Given the description of an element on the screen output the (x, y) to click on. 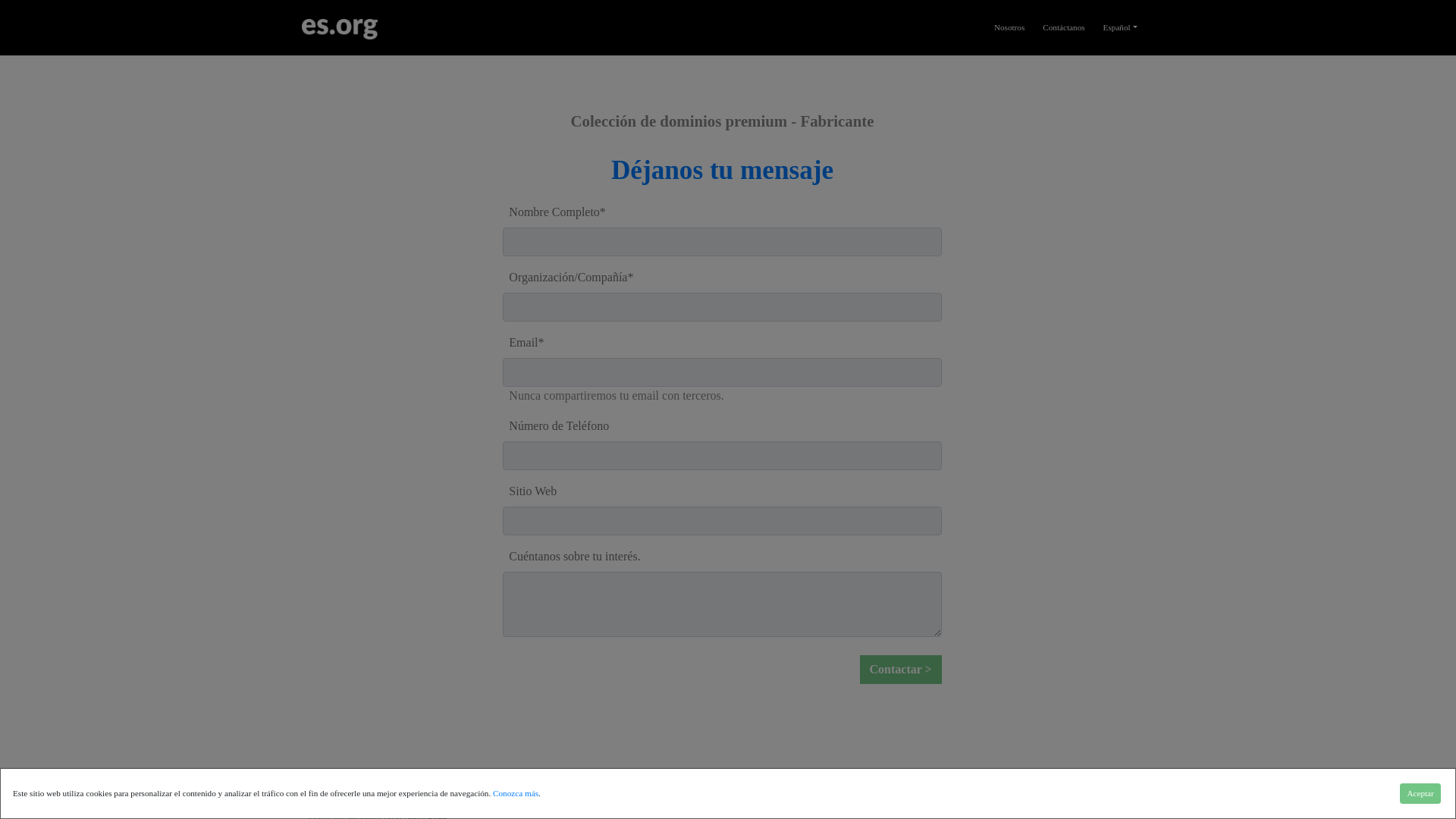
Nosotros (1009, 27)
Nosotros (1126, 790)
Aceptar (1419, 792)
